Given the description of an element on the screen output the (x, y) to click on. 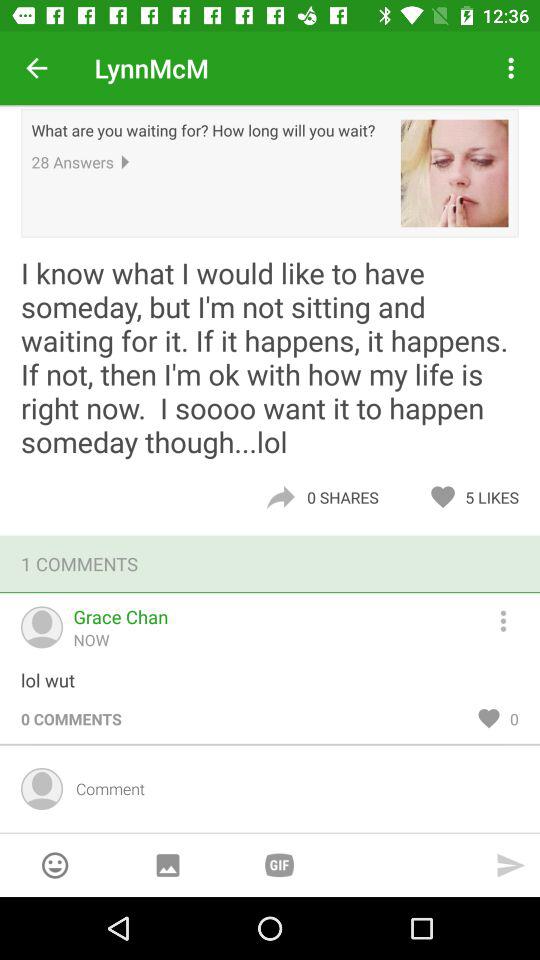
post gif (279, 864)
